Given the description of an element on the screen output the (x, y) to click on. 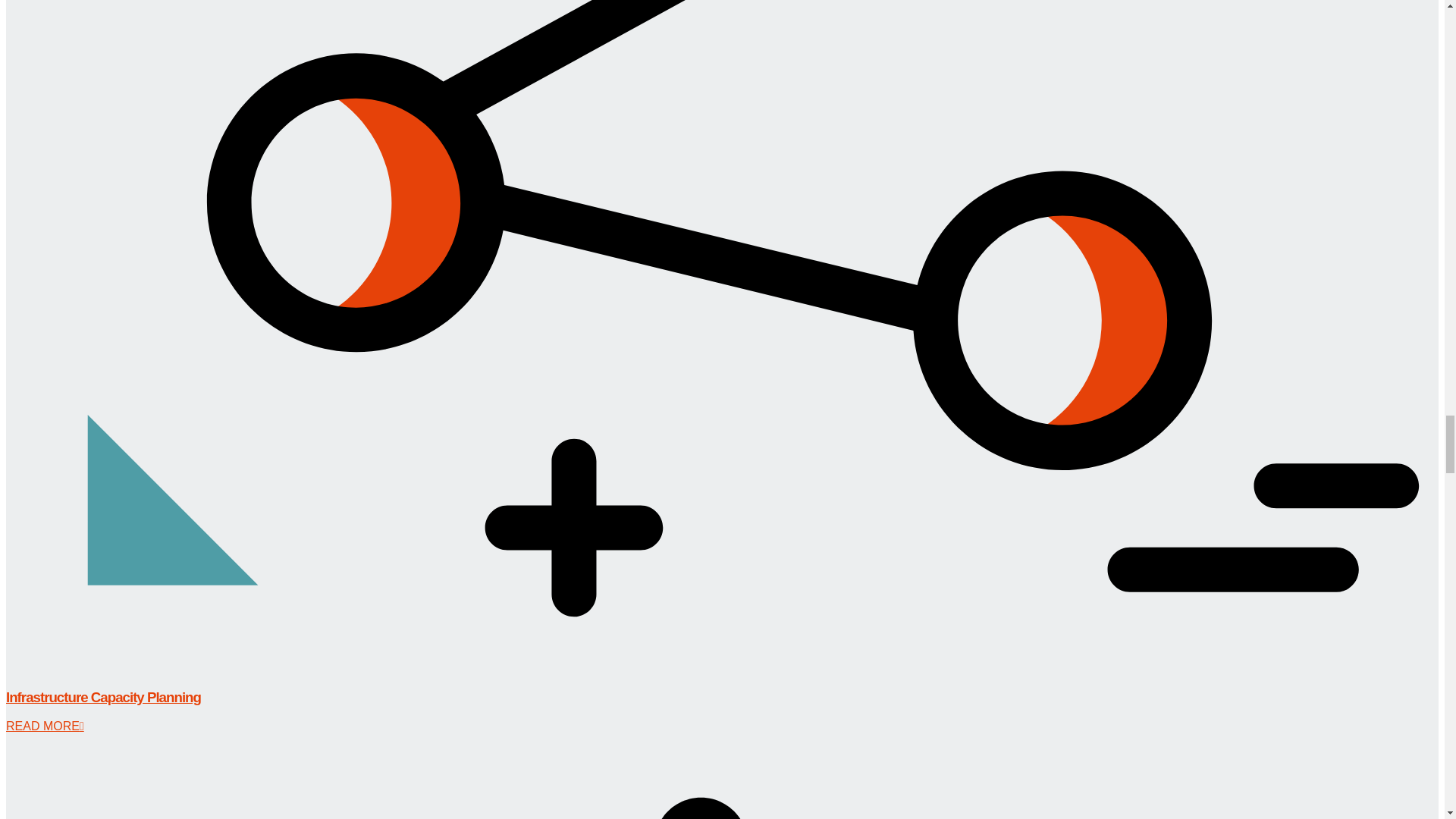
Infrastructure Capacity Planning (102, 697)
READ MORE (44, 725)
READ MORE (44, 725)
Infrastructure Capacity Planning (102, 697)
